Given the description of an element on the screen output the (x, y) to click on. 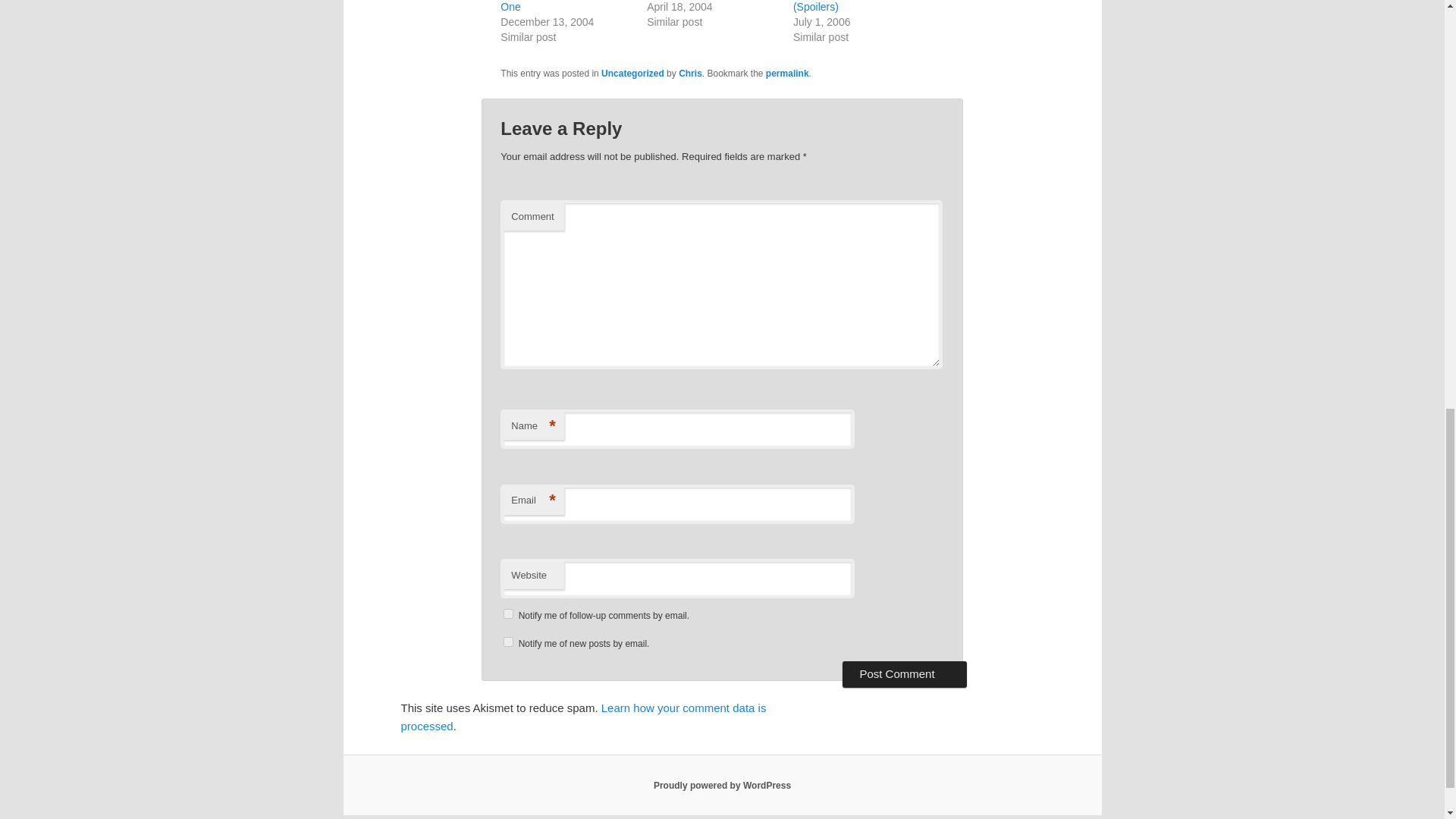
Proudly powered by WordPress (721, 785)
Semantic Personal Publishing Platform (721, 785)
Post Comment (904, 673)
Learn how your comment data is processed (582, 716)
Bigger, Redder, but Still the One (564, 6)
Uncategorized (632, 72)
Chris (689, 72)
subscribe (508, 642)
Post Comment (904, 673)
permalink (787, 72)
